Given the description of an element on the screen output the (x, y) to click on. 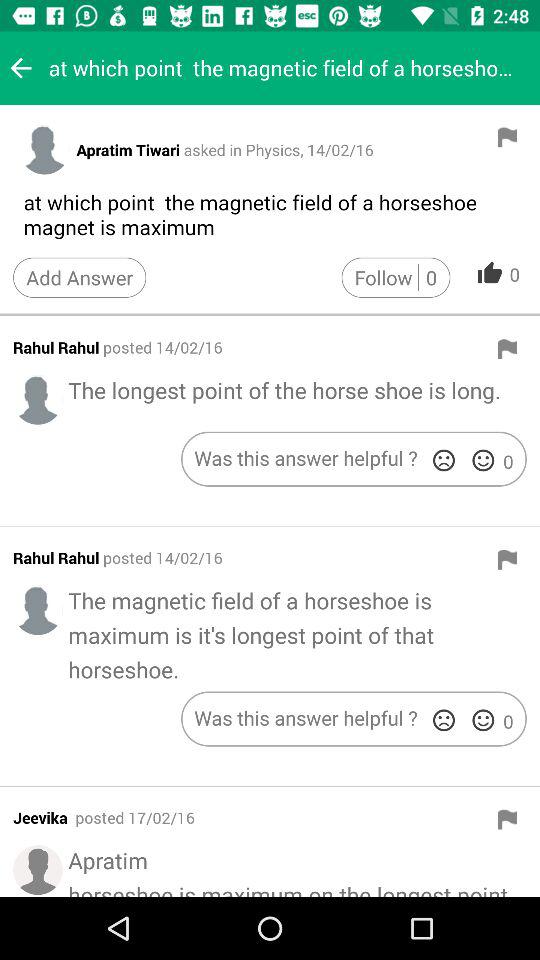
flag the post (507, 349)
